Given the description of an element on the screen output the (x, y) to click on. 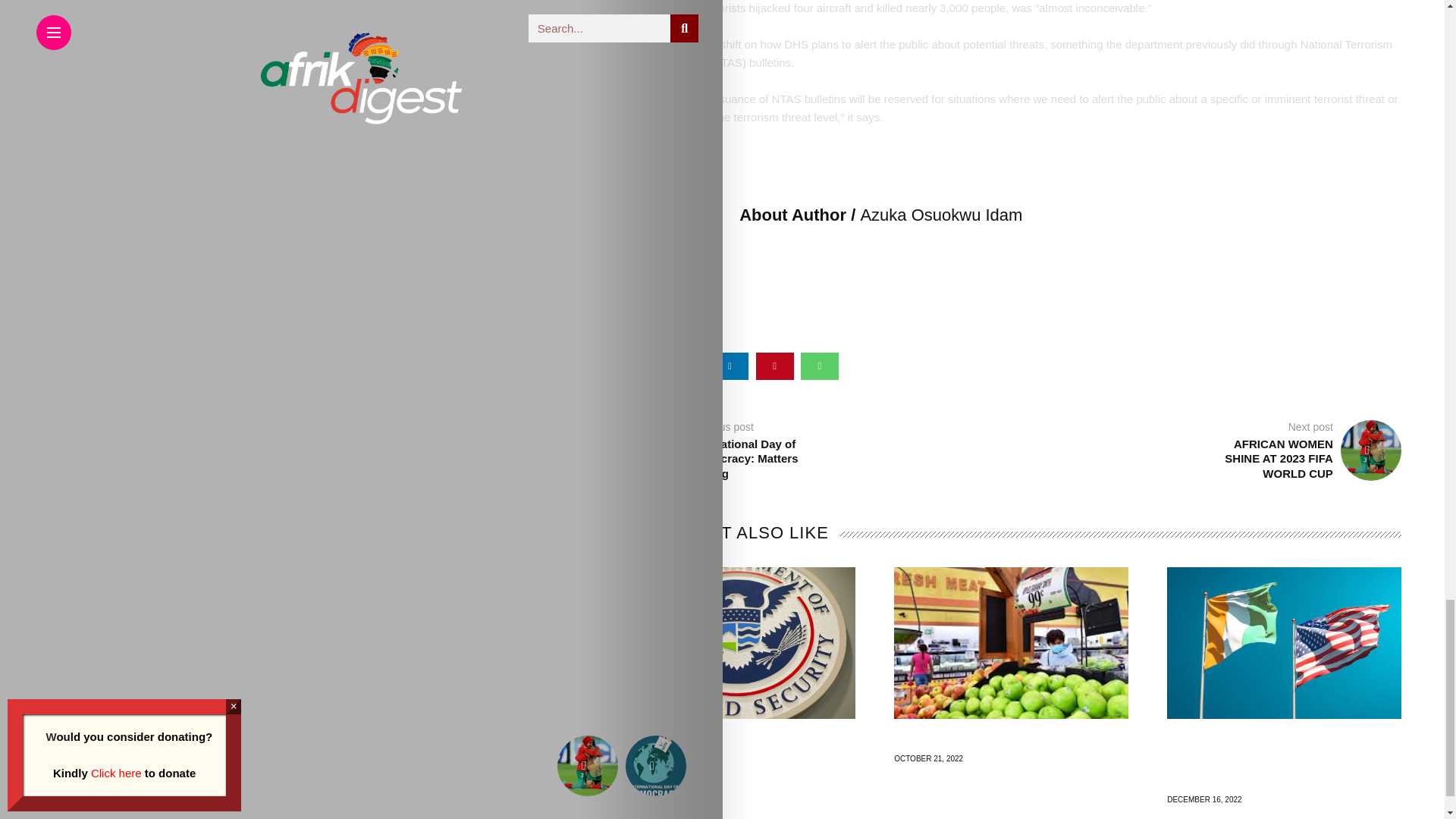
Posts by Azuka Osuokwu Idam (941, 214)
facebook (640, 366)
